Given the description of an element on the screen output the (x, y) to click on. 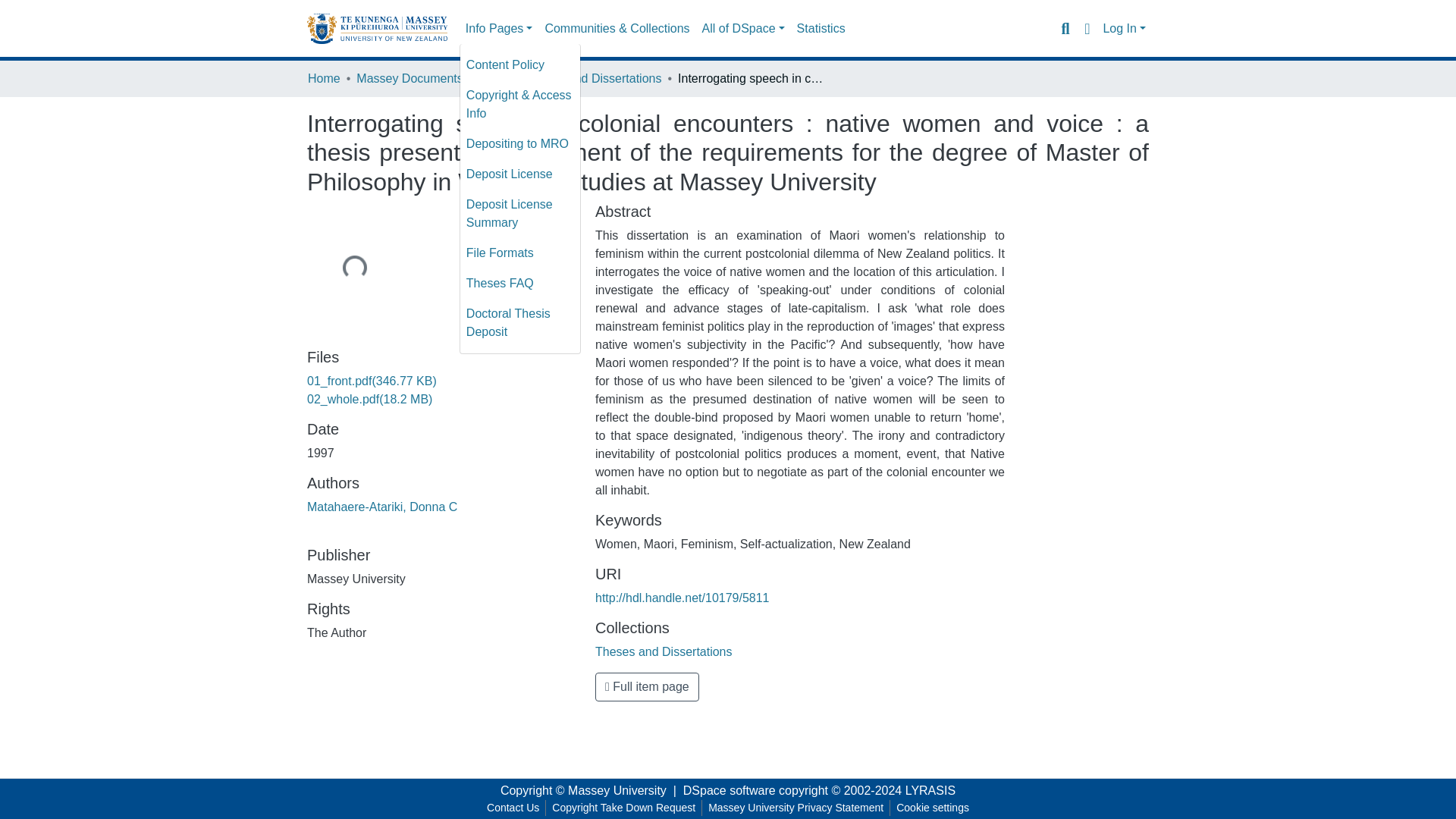
Content Policy (519, 64)
Theses FAQ (519, 283)
Statistics (820, 28)
Search (1064, 28)
Full item page (646, 686)
Info Pages (499, 28)
Doctoral Thesis Deposit (519, 322)
Depositing to MRO (519, 143)
Massey Documents by Type (432, 78)
Deposit License Summary (519, 213)
Deposit License (519, 173)
File Formats (519, 253)
LYRASIS (930, 789)
Language switch (1086, 28)
Contact Us (512, 807)
